Given the description of an element on the screen output the (x, y) to click on. 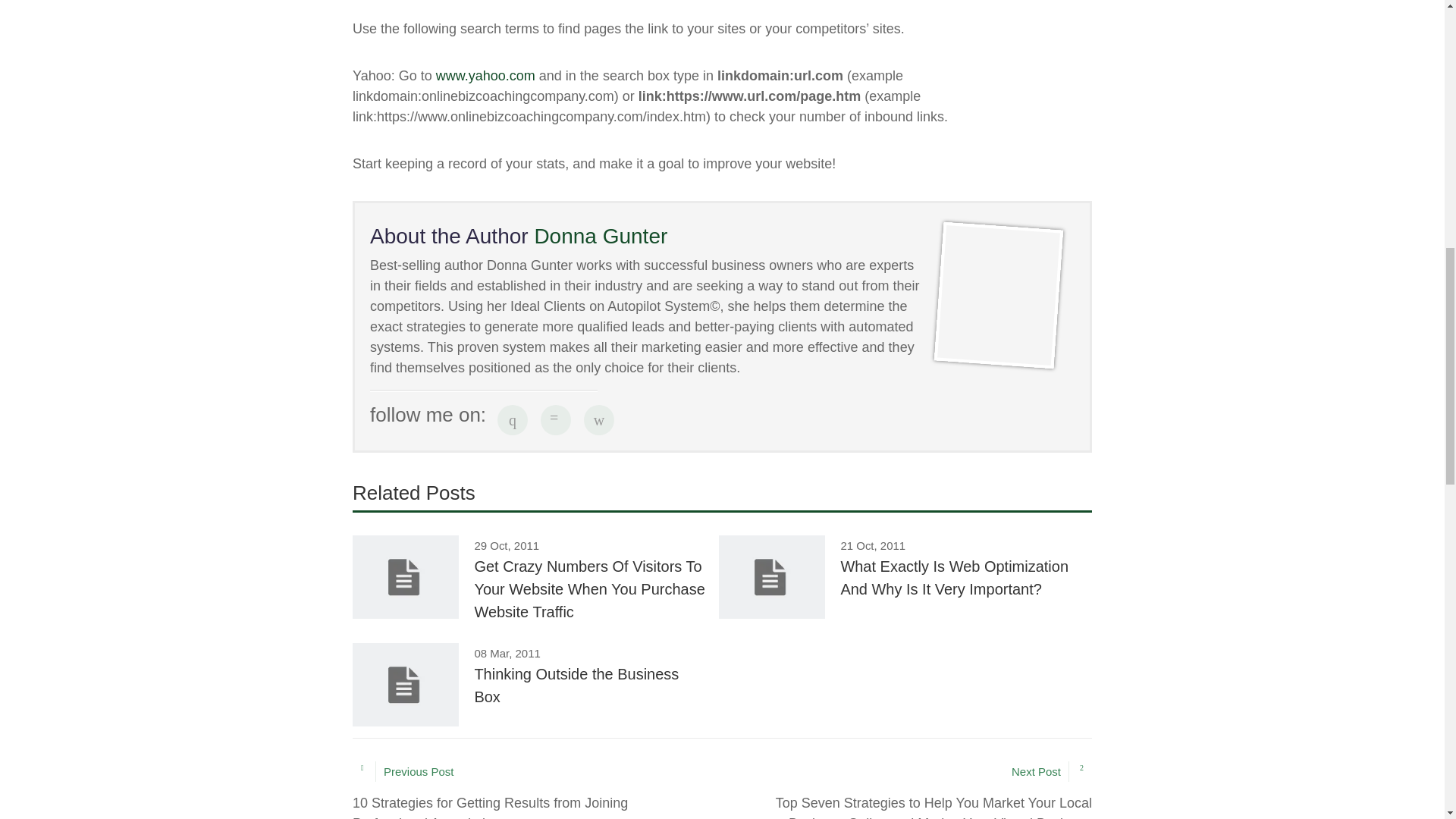
www.yahoo.com (485, 75)
